Given the description of an element on the screen output the (x, y) to click on. 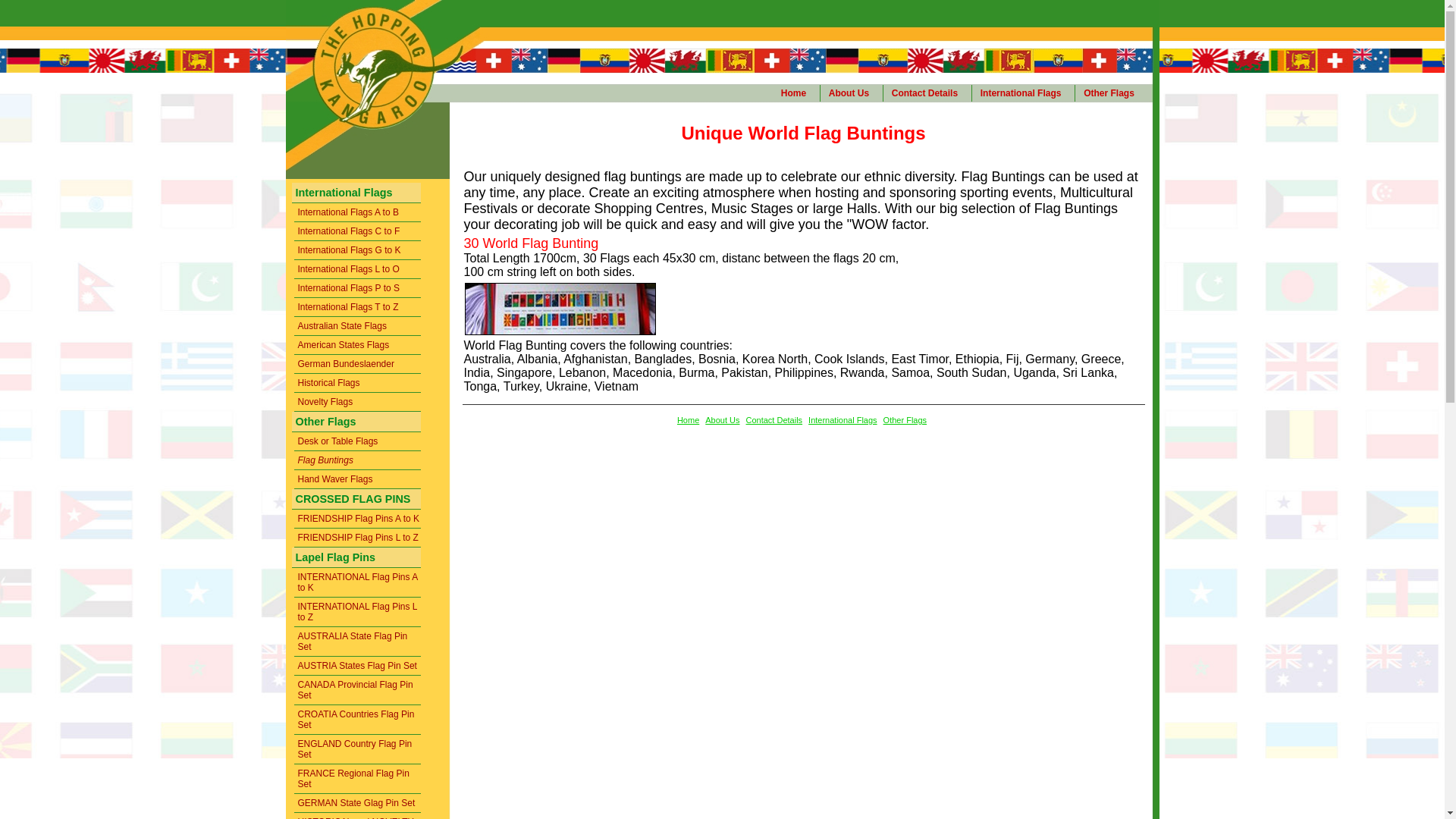
Home   Element type: text (795, 92)
FRIENDSHIP Flag Pins A to K Element type: text (357, 518)
Novelty Flags Element type: text (357, 401)
Contact Details Element type: text (774, 419)
Lapel Flag Pins Element type: text (355, 557)
FRIENDSHIP Flag Pins L to Z Element type: text (357, 537)
International Flags Element type: text (355, 192)
Australian State Flags Element type: text (357, 325)
INTERNATIONAL Flag Pins L to Z Element type: text (357, 612)
Desk or Table Flags Element type: text (357, 441)
International Flags T to Z Element type: text (357, 307)
About Us   Element type: text (851, 93)
AUSTRIA States Flag Pin Set Element type: text (357, 665)
About Us   Element type: text (851, 92)
German Bundeslaender Element type: text (357, 363)
INTERNATIONAL Flag Pins A to K Element type: text (357, 582)
Other Flags Element type: text (355, 421)
Home Element type: text (688, 419)
Home   Element type: text (796, 93)
About Us Element type: text (722, 419)
Contact Details   Element type: text (927, 92)
Other Flags   Element type: text (1110, 93)
AUSTRALIA State Flag Pin Set Element type: text (357, 641)
Historical Flags Element type: text (357, 382)
ENGLAND Country Flag Pin Set Element type: text (357, 749)
FRANCE Regional Flag Pin Set Element type: text (357, 778)
International Flags P to S Element type: text (357, 288)
Hand Waver Flags Element type: text (357, 479)
International Flags A to B Element type: text (357, 212)
CROATIA Countries Flag Pin Set Element type: text (357, 719)
Other Flags Element type: text (904, 419)
International Flags   Element type: text (1023, 92)
Contact Details   Element type: text (927, 93)
American States Flags Element type: text (357, 344)
CANADA Provincial Flag Pin Set Element type: text (357, 690)
Flag Buntings Element type: text (357, 460)
GERMAN State Glag Pin Set Element type: text (357, 802)
International Flags C to F Element type: text (357, 231)
International Flags G to K Element type: text (357, 250)
CROSSED FLAG PINS Element type: text (355, 499)
International Flags Element type: text (842, 419)
Other Flags   Element type: text (1111, 92)
International Flags L to O Element type: text (357, 269)
International Flags   Element type: text (1023, 93)
